Given the description of an element on the screen output the (x, y) to click on. 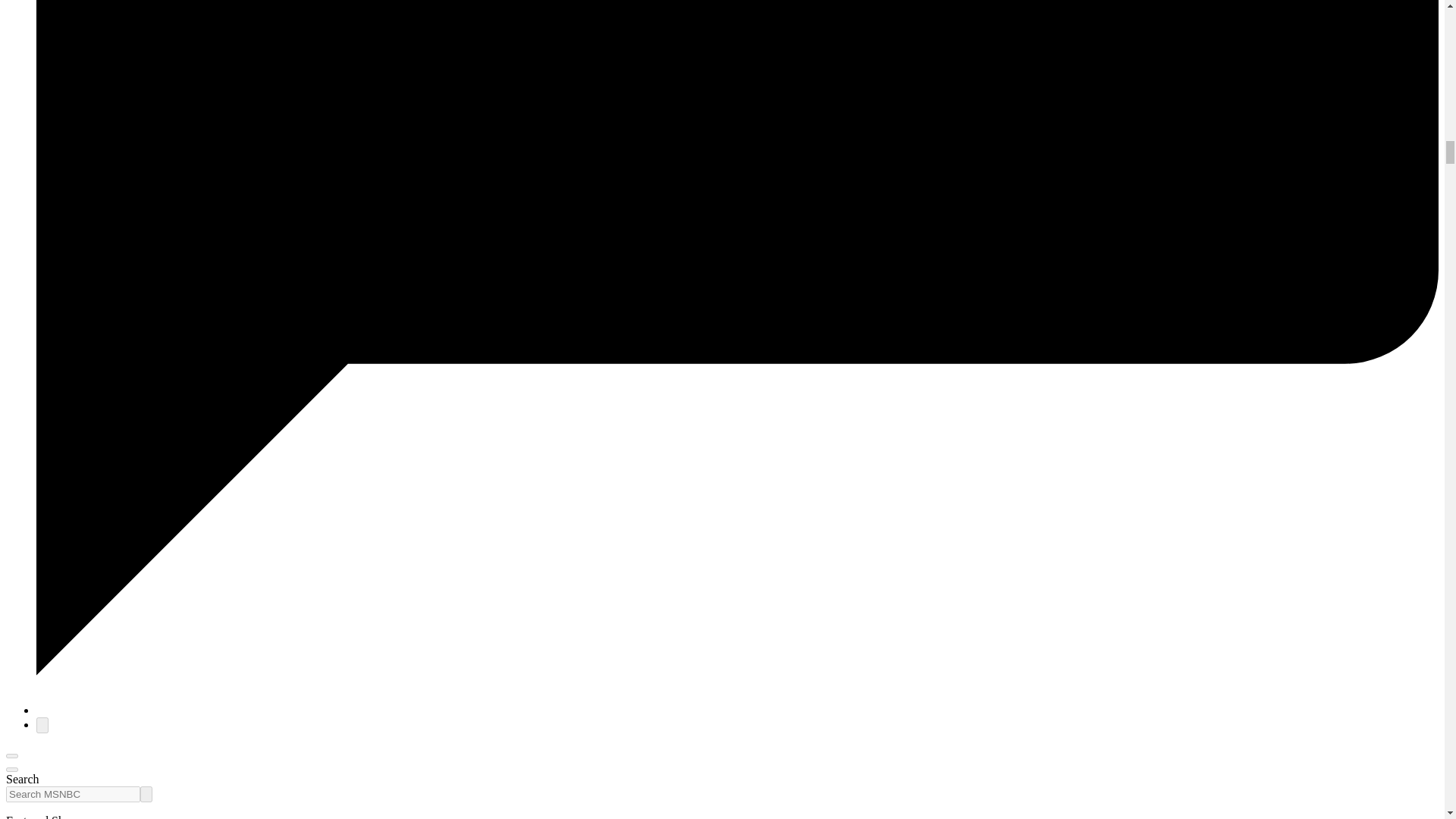
Search (145, 794)
